Given the description of an element on the screen output the (x, y) to click on. 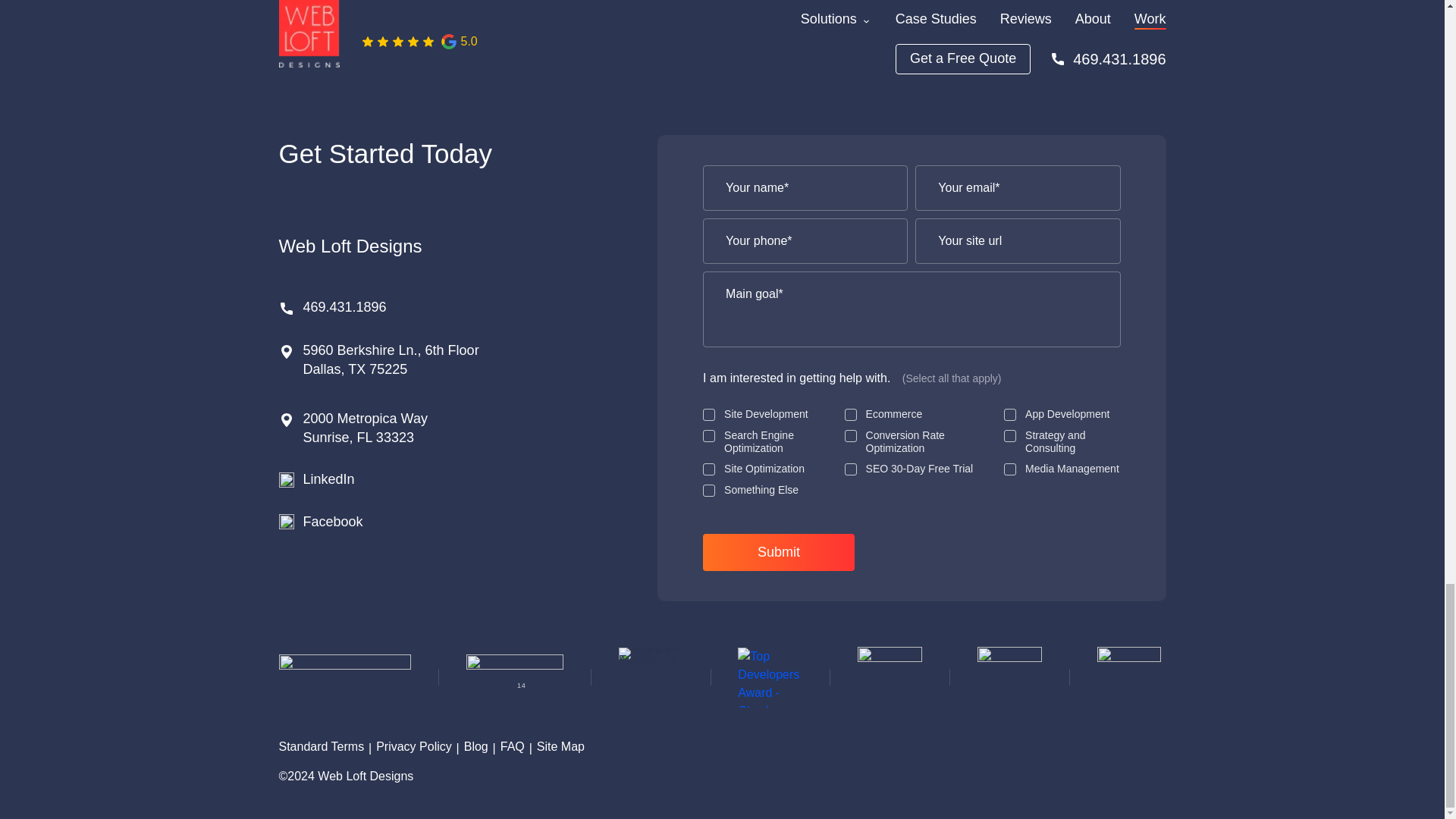
Site Optimization (708, 469)
Conversion Rate Optimization (850, 435)
Media Management (1010, 469)
SEO 30-Day Free Trial (850, 469)
Ecommerce (850, 414)
Search Engine Optimization (708, 435)
Submit (778, 551)
Site Development (708, 414)
Something Else (708, 490)
Strategy and Consulting (1010, 435)
